Given the description of an element on the screen output the (x, y) to click on. 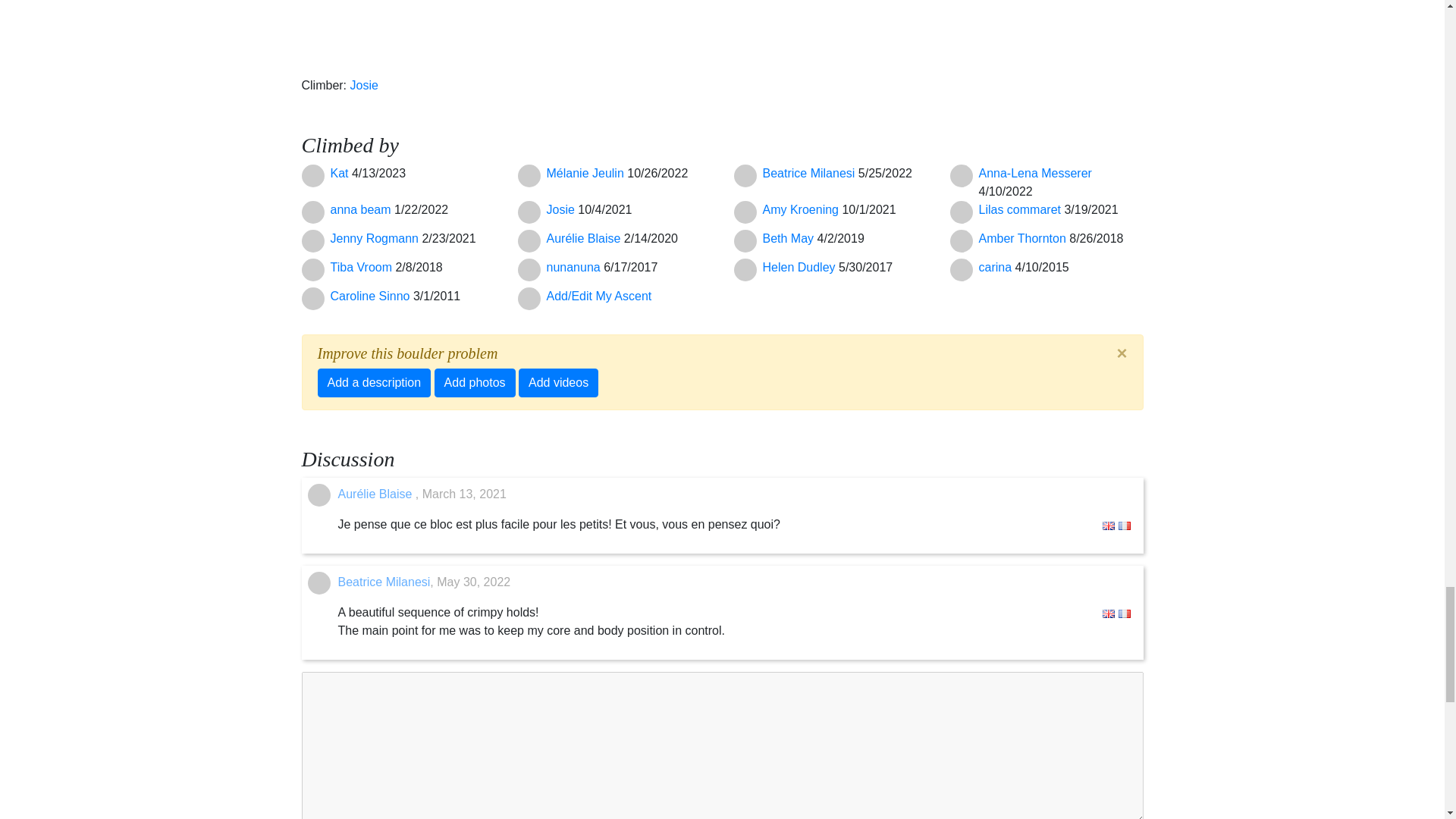
Amber Thornton (1023, 237)
Caroline Sinno (371, 295)
Tiba Vroom (363, 267)
nunanuna (575, 267)
Josie (562, 209)
Jenny Rogmann (376, 237)
Anna-Lena Messerer (1034, 173)
Josie (364, 84)
carina (996, 267)
Amy Kroening (802, 209)
anna beam (362, 209)
Kat (341, 173)
Lilas commaret (1021, 209)
Helen Dudley (801, 267)
Beth May (789, 237)
